Given the description of an element on the screen output the (x, y) to click on. 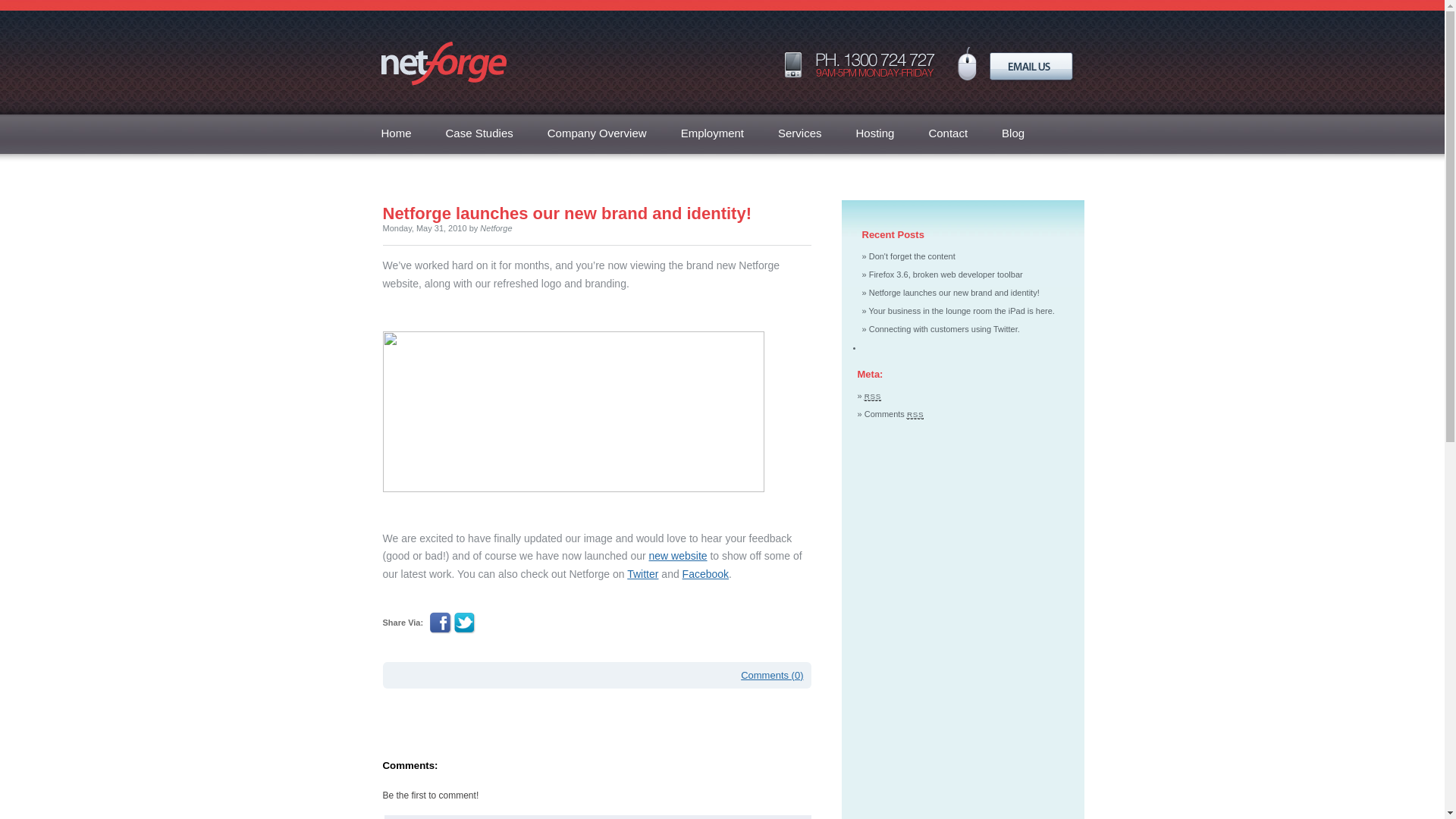
Case Studies Element type: text (479, 132)
Your business in the lounge room the iPad is here. Element type: text (961, 310)
Services Element type: text (800, 132)
RSS Element type: text (872, 395)
Contact Element type: text (947, 132)
Comments RSS Element type: text (894, 413)
Netforge launches our new brand and identity! Element type: text (566, 212)
Comments (0) Element type: text (771, 674)
Company Overview Element type: text (596, 132)
Connecting with customers using Twitter. Element type: text (944, 328)
Facebook Element type: text (705, 573)
Twitter Element type: text (642, 573)
Hosting Element type: text (875, 132)
nflog Element type: hover (572, 411)
Home Element type: text (395, 132)
new website Element type: text (678, 555)
Don't forget the content Element type: text (912, 255)
Netforge launches our new brand and identity! Element type: text (954, 292)
Blog Element type: text (1012, 132)
Firefox 3.6, broken web developer toolbar Element type: text (945, 274)
Employment Element type: text (711, 132)
